Given the description of an element on the screen output the (x, y) to click on. 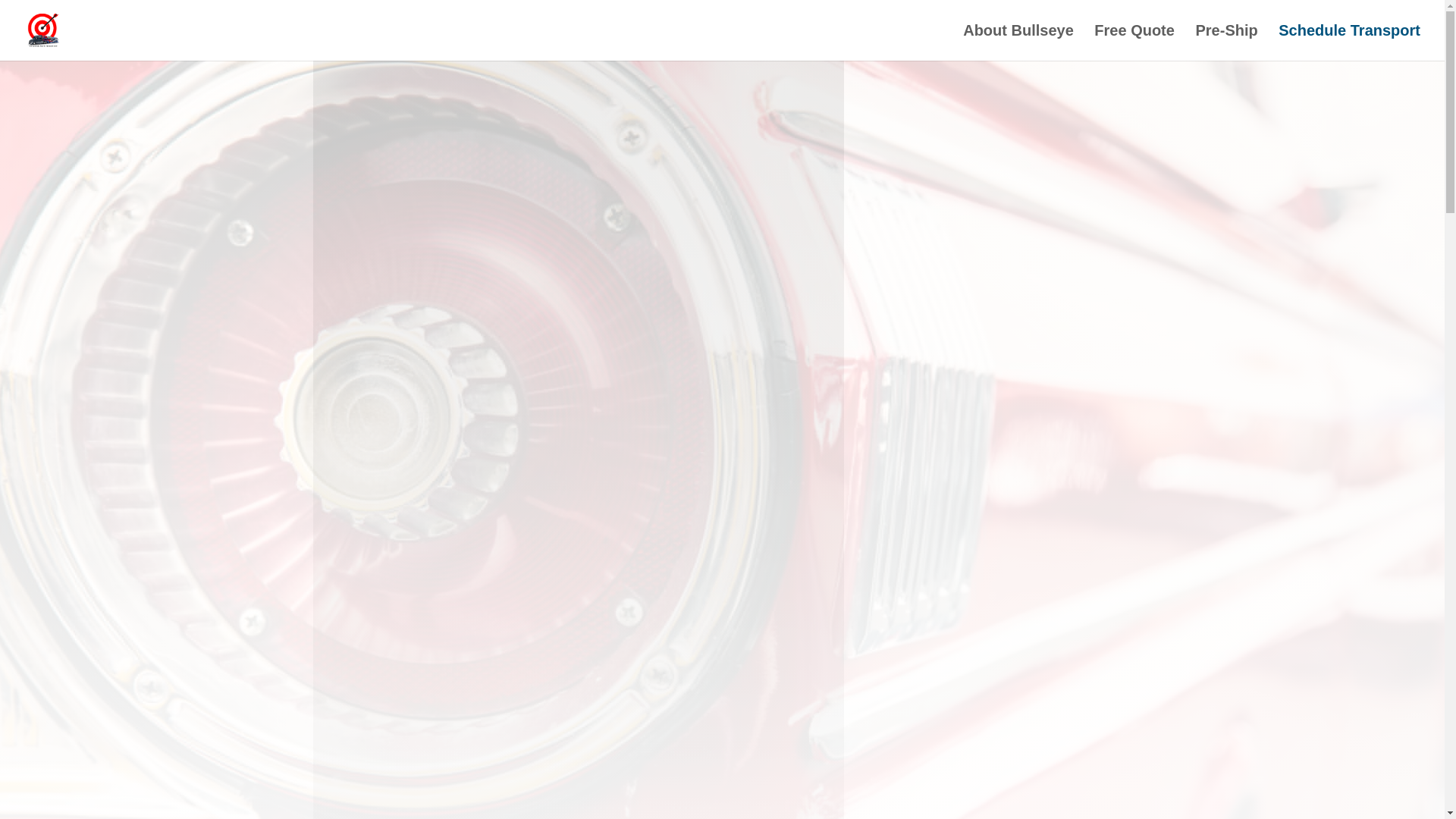
About Bullseye (1018, 42)
Free Quote (1134, 42)
Schedule Transport (1349, 42)
Pre-Ship (1226, 42)
